Given the description of an element on the screen output the (x, y) to click on. 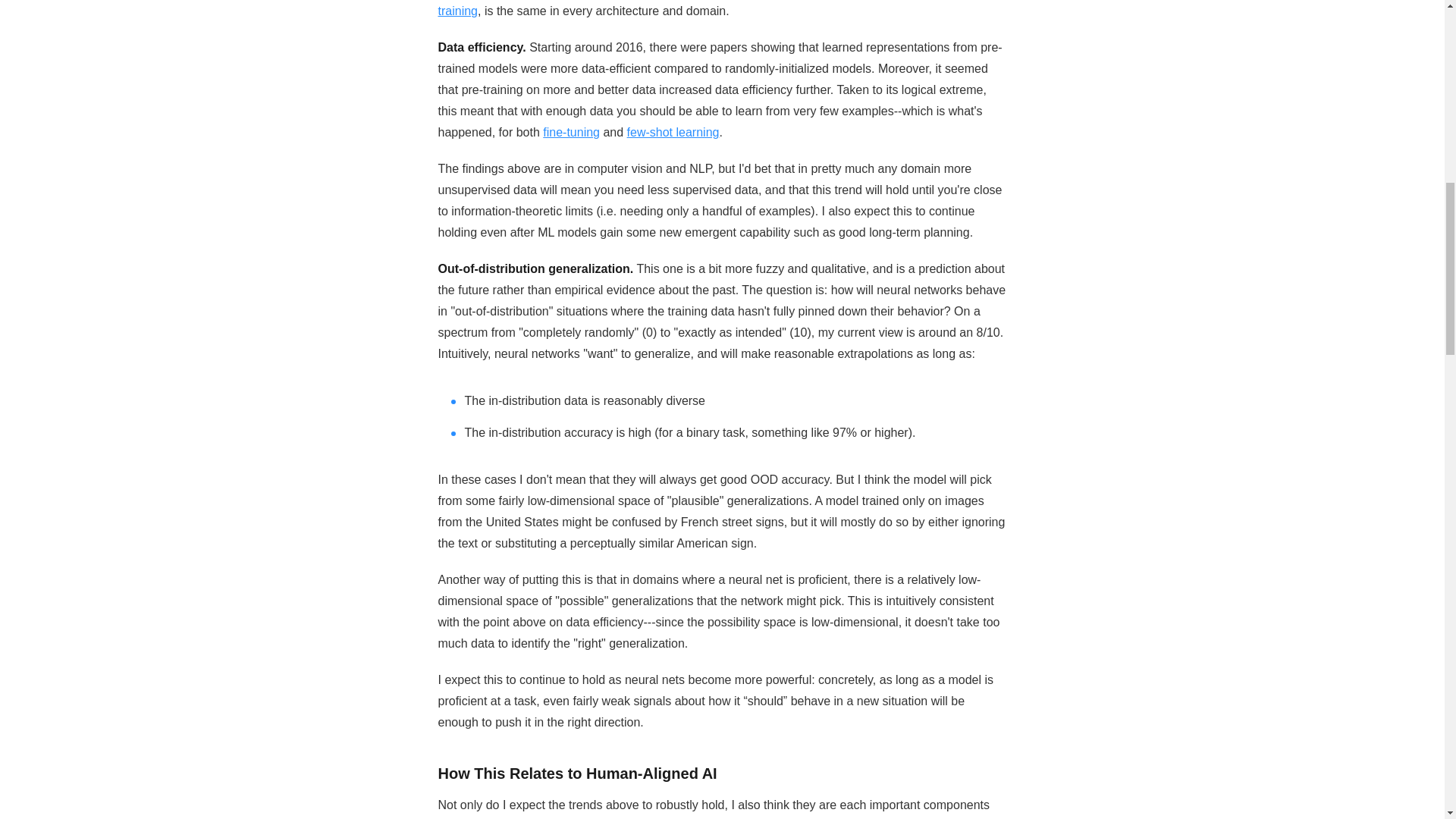
adversarial training (717, 8)
few-shot learning (673, 132)
fine-tuning (571, 132)
